Given the description of an element on the screen output the (x, y) to click on. 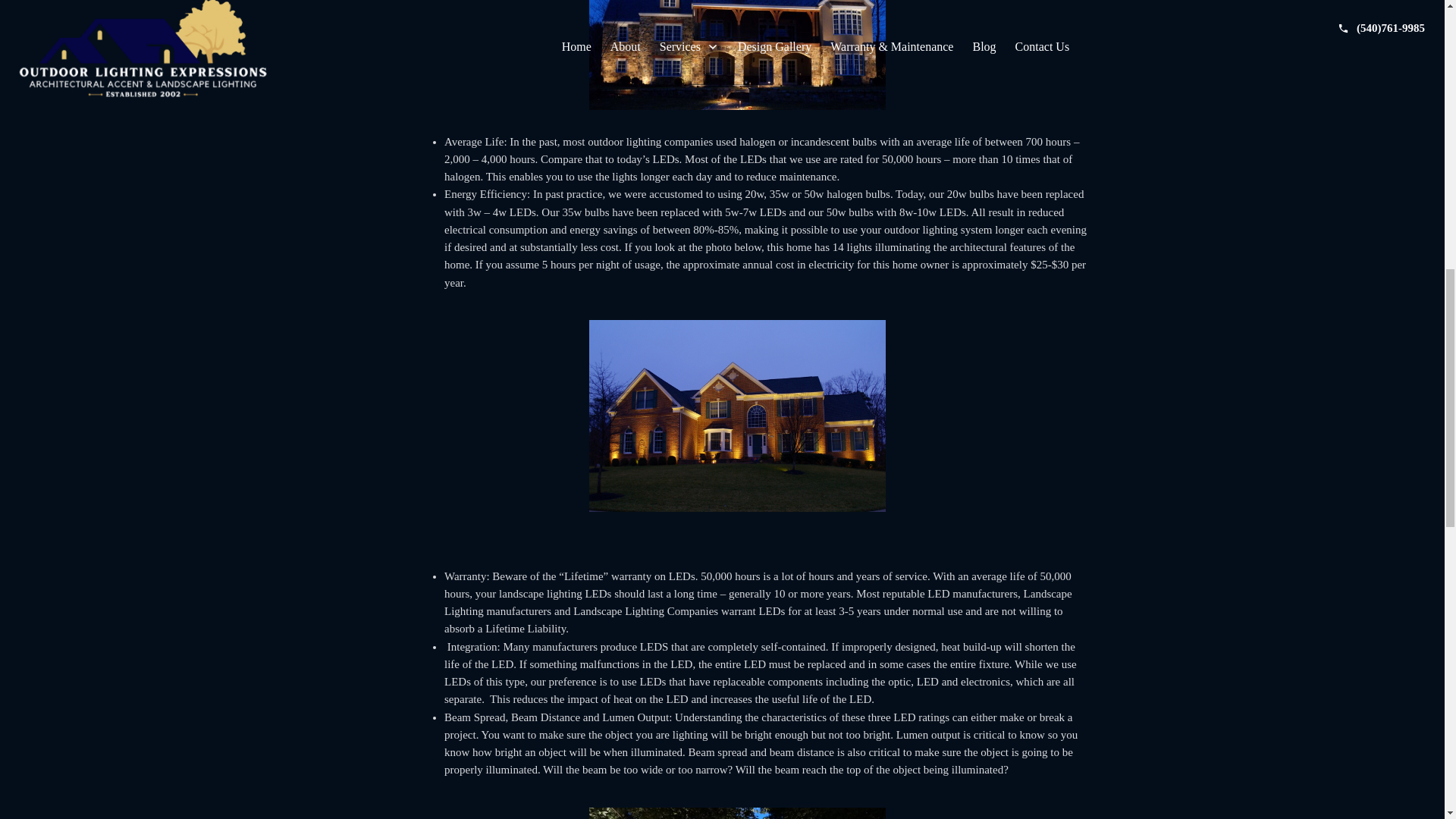
harders-brick (737, 415)
Davenport House Demo Jan 9 2012 (737, 54)
Wattsman-Ornamental-Trees (737, 813)
